Given the description of an element on the screen output the (x, y) to click on. 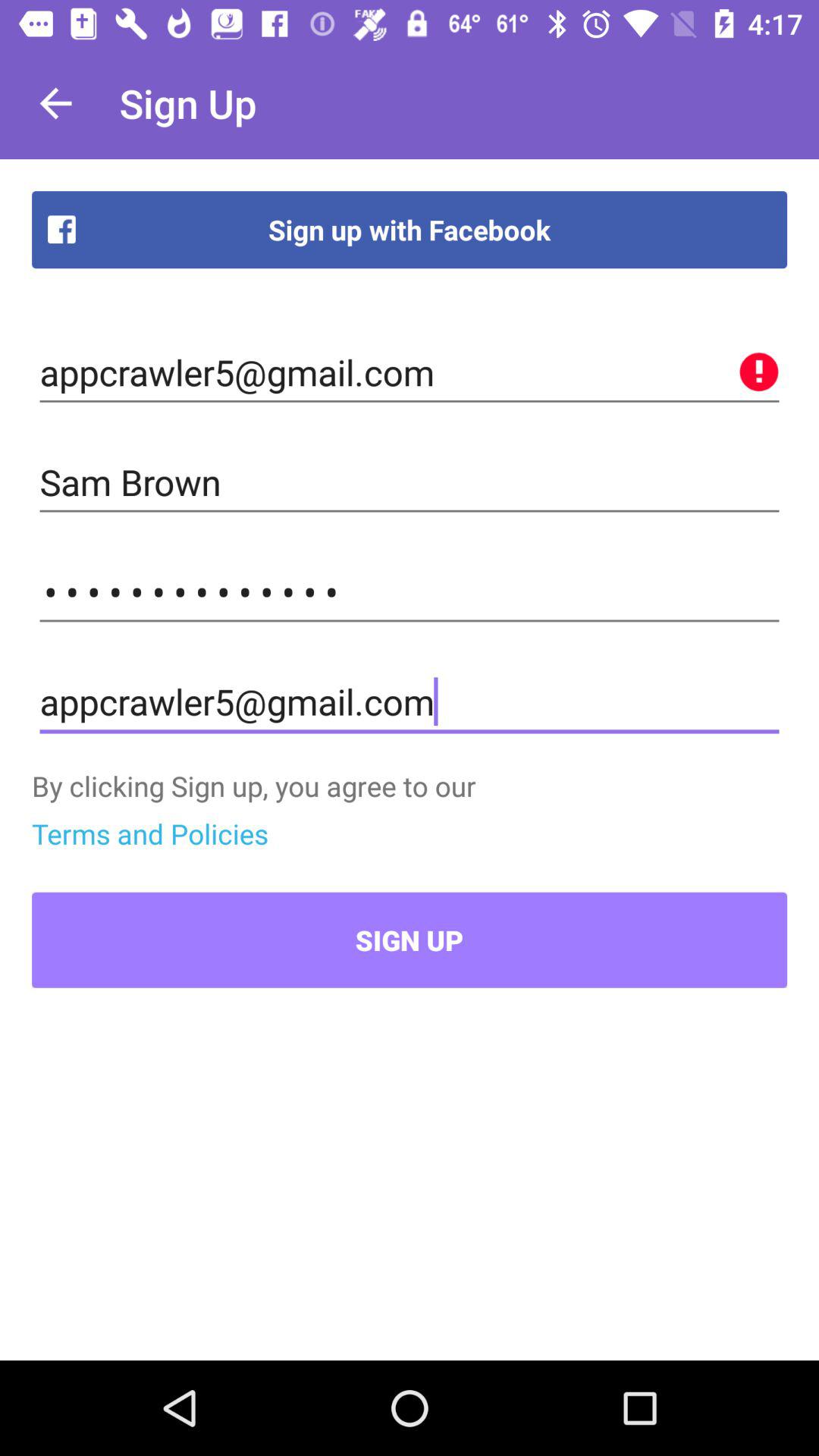
swipe to the appcrawler3116 (409, 592)
